Given the description of an element on the screen output the (x, y) to click on. 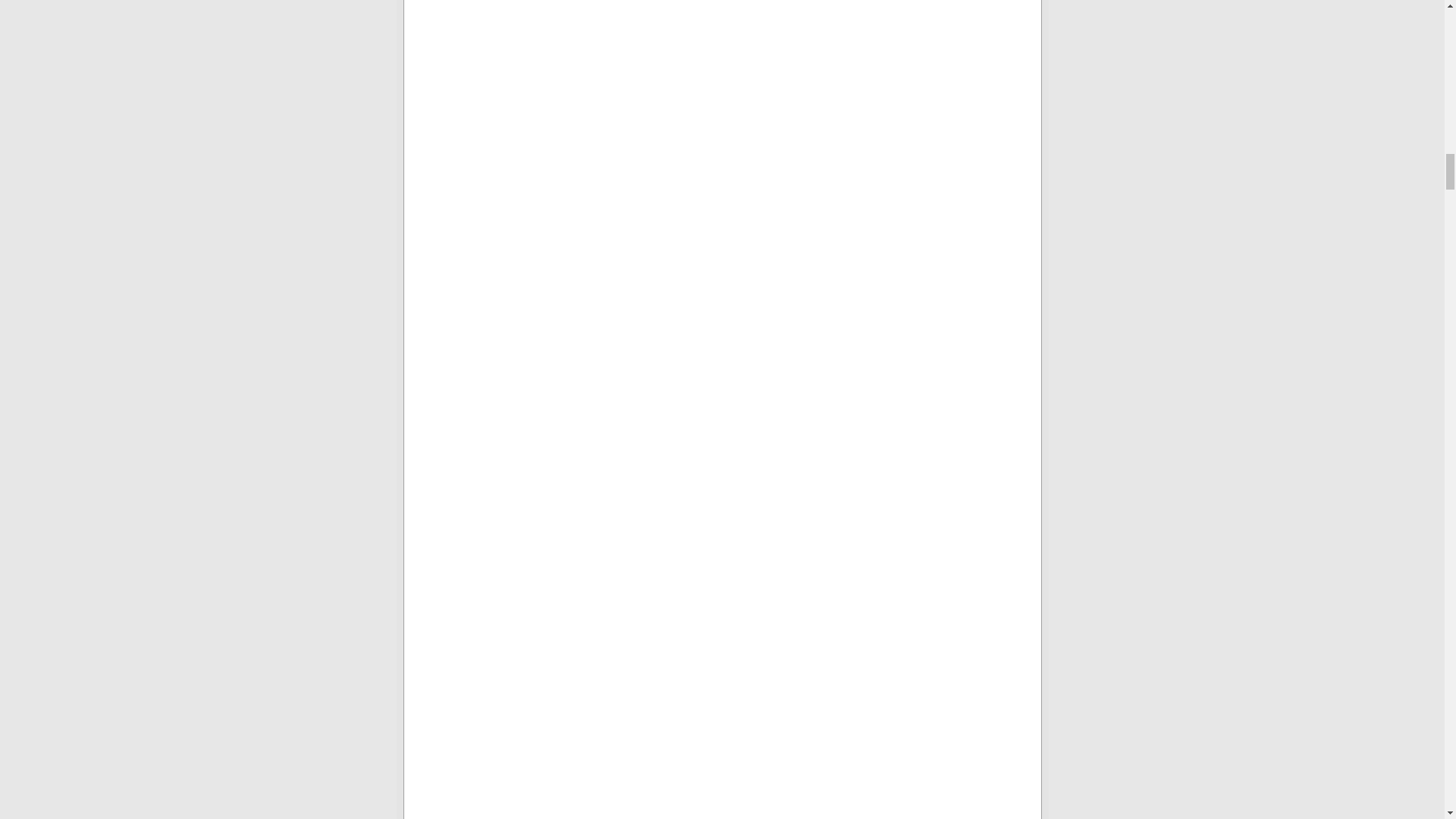
6 (592, 140)
7 (592, 411)
8 (592, 683)
